Given the description of an element on the screen output the (x, y) to click on. 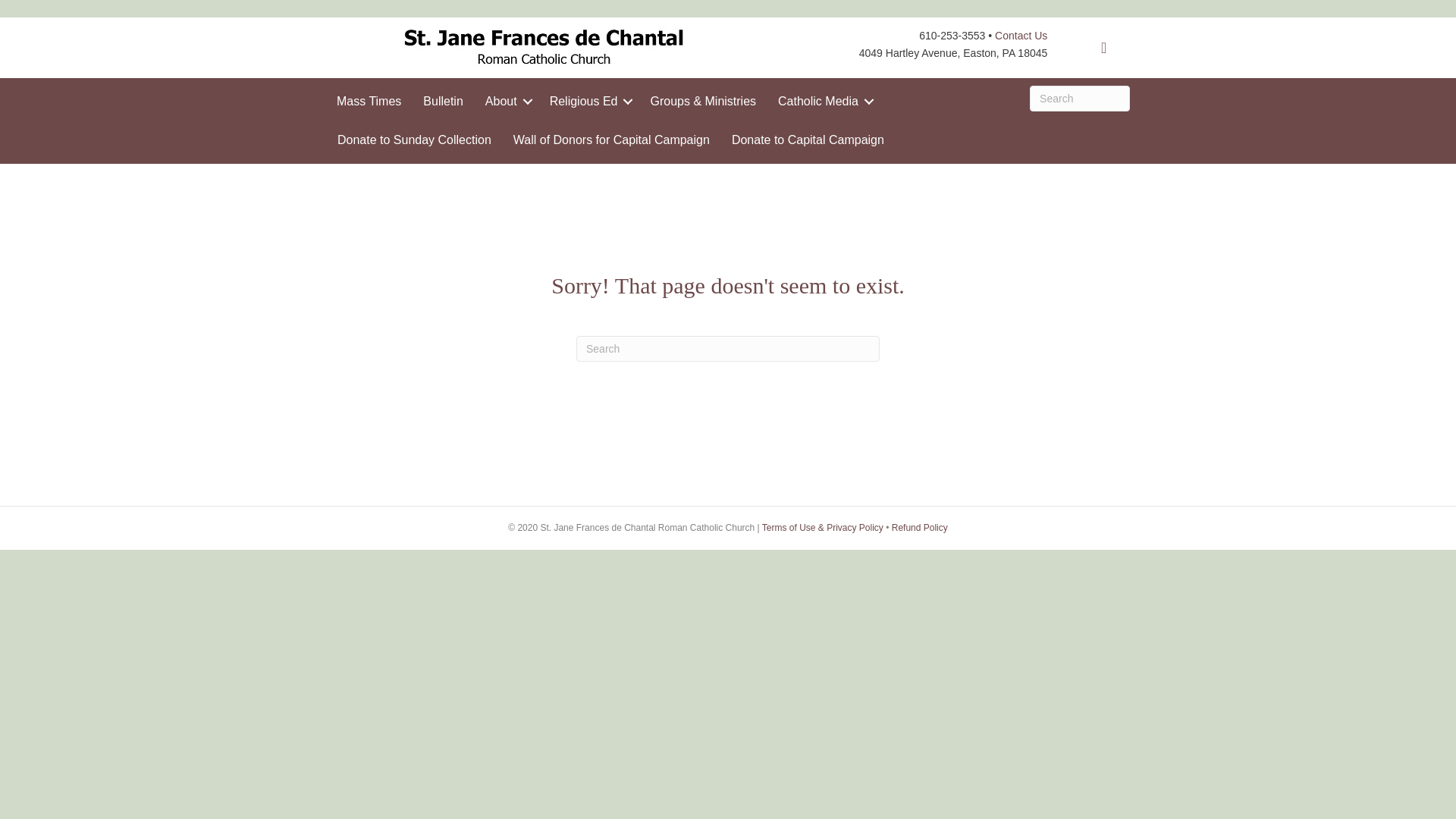
Wall of Donors for Capital Campaign (611, 139)
Mass Times (369, 100)
Religious Ed (588, 100)
Email (1104, 47)
Donate to Capital Campaign (807, 139)
Type and press Enter to search. (727, 348)
Logo 2 use this (542, 47)
Donate to Sunday Collection (414, 139)
Refund Policy (919, 527)
Bulletin (442, 100)
Type and press Enter to search. (1079, 98)
About (506, 100)
Catholic Media (823, 100)
Contact Us (1020, 35)
